Given the description of an element on the screen output the (x, y) to click on. 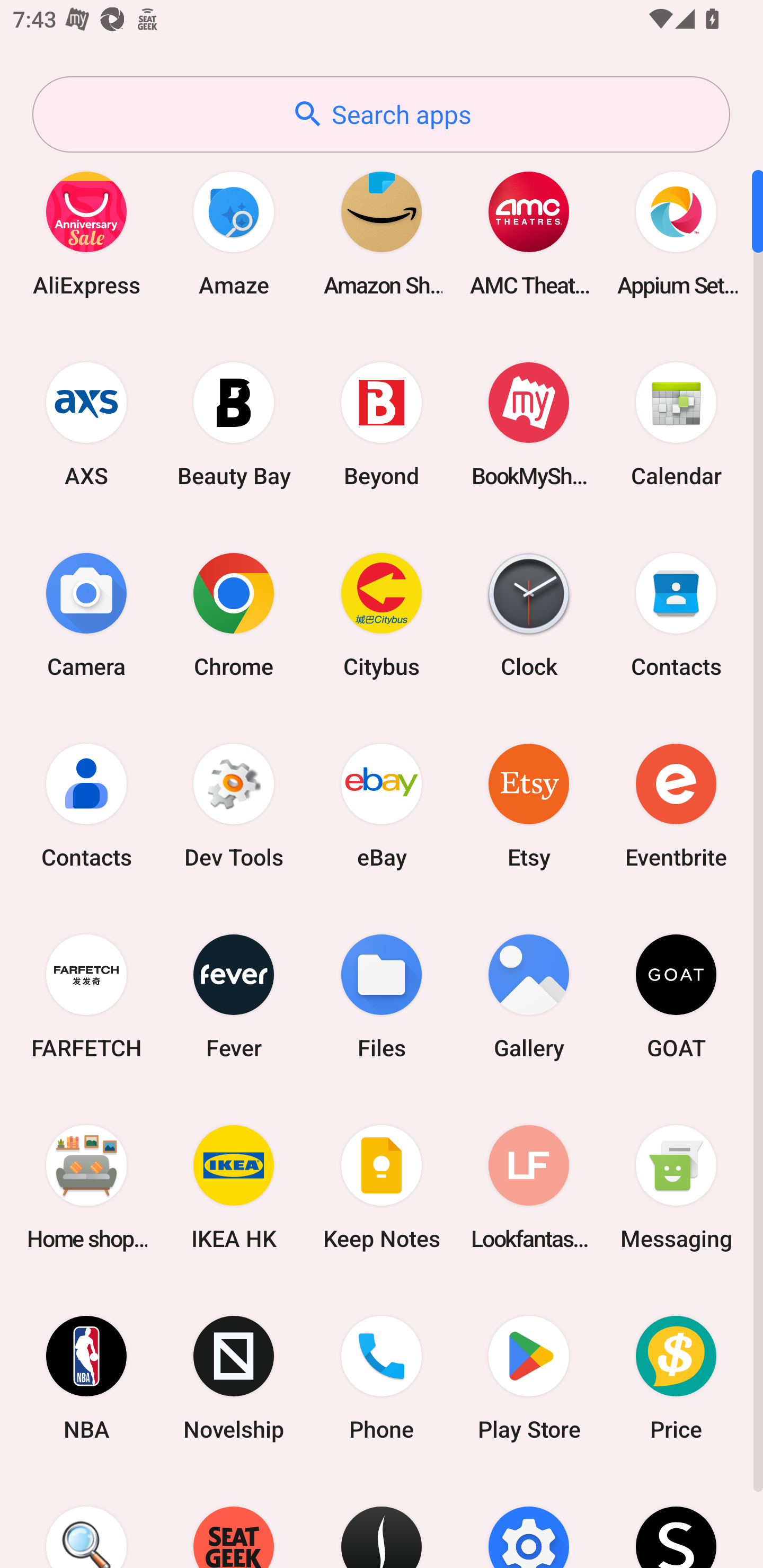
  Search apps (381, 114)
AliExpress (86, 233)
Amaze (233, 233)
Amazon Shopping (381, 233)
AMC Theatres (528, 233)
Appium Settings (676, 233)
AXS (86, 424)
Beauty Bay (233, 424)
Beyond (381, 424)
BookMyShow (528, 424)
Calendar (676, 424)
Camera (86, 614)
Chrome (233, 614)
Citybus (381, 614)
Clock (528, 614)
Contacts (676, 614)
Contacts (86, 805)
Dev Tools (233, 805)
eBay (381, 805)
Etsy (528, 805)
Eventbrite (676, 805)
FARFETCH (86, 996)
Fever (233, 996)
Files (381, 996)
Gallery (528, 996)
GOAT (676, 996)
Home shopping (86, 1186)
IKEA HK (233, 1186)
Keep Notes (381, 1186)
Lookfantastic (528, 1186)
Messaging (676, 1186)
NBA (86, 1377)
Novelship (233, 1377)
Phone (381, 1377)
Play Store (528, 1377)
Price (676, 1377)
